Given the description of an element on the screen output the (x, y) to click on. 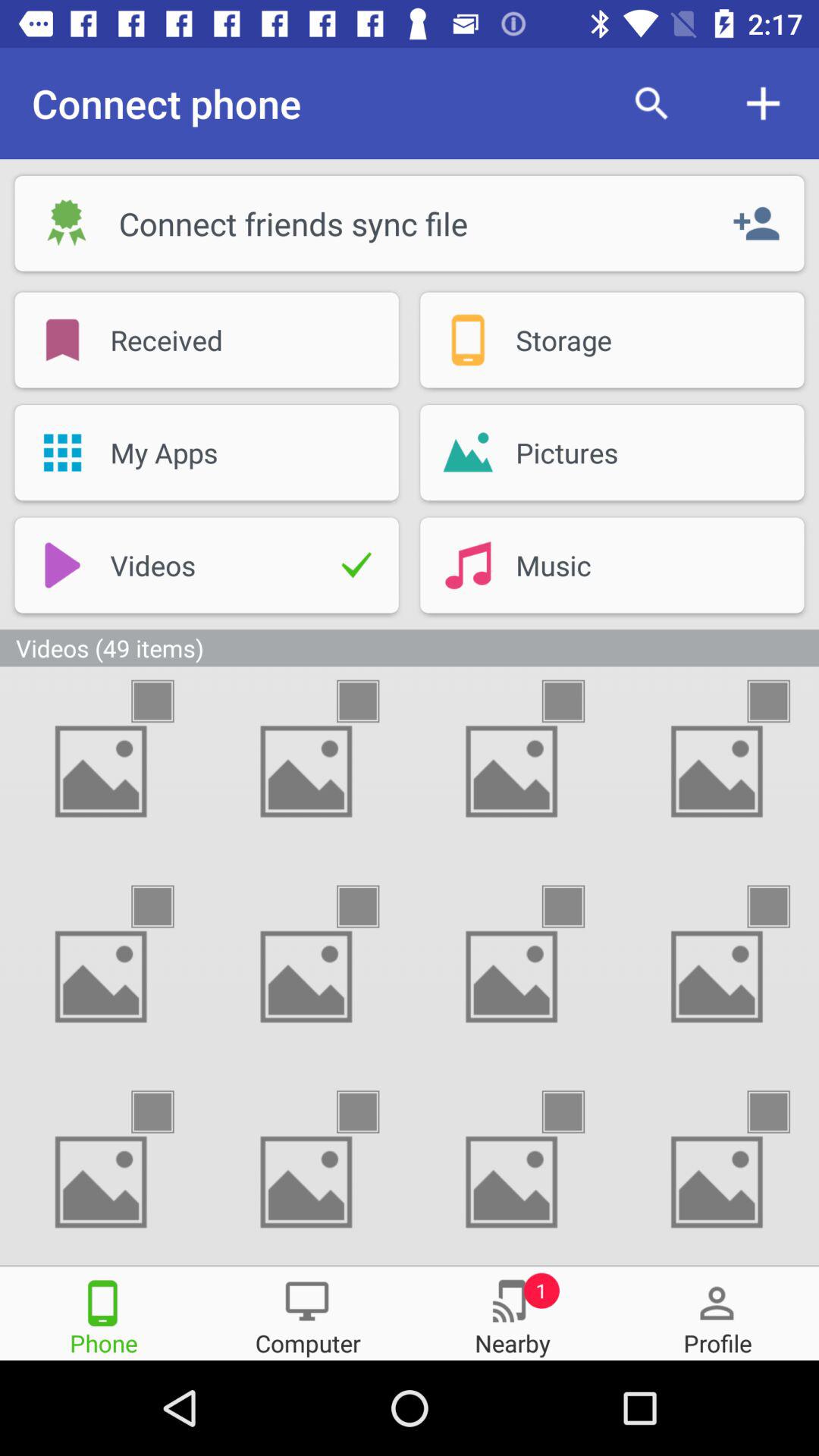
select the option (166, 700)
